Given the description of an element on the screen output the (x, y) to click on. 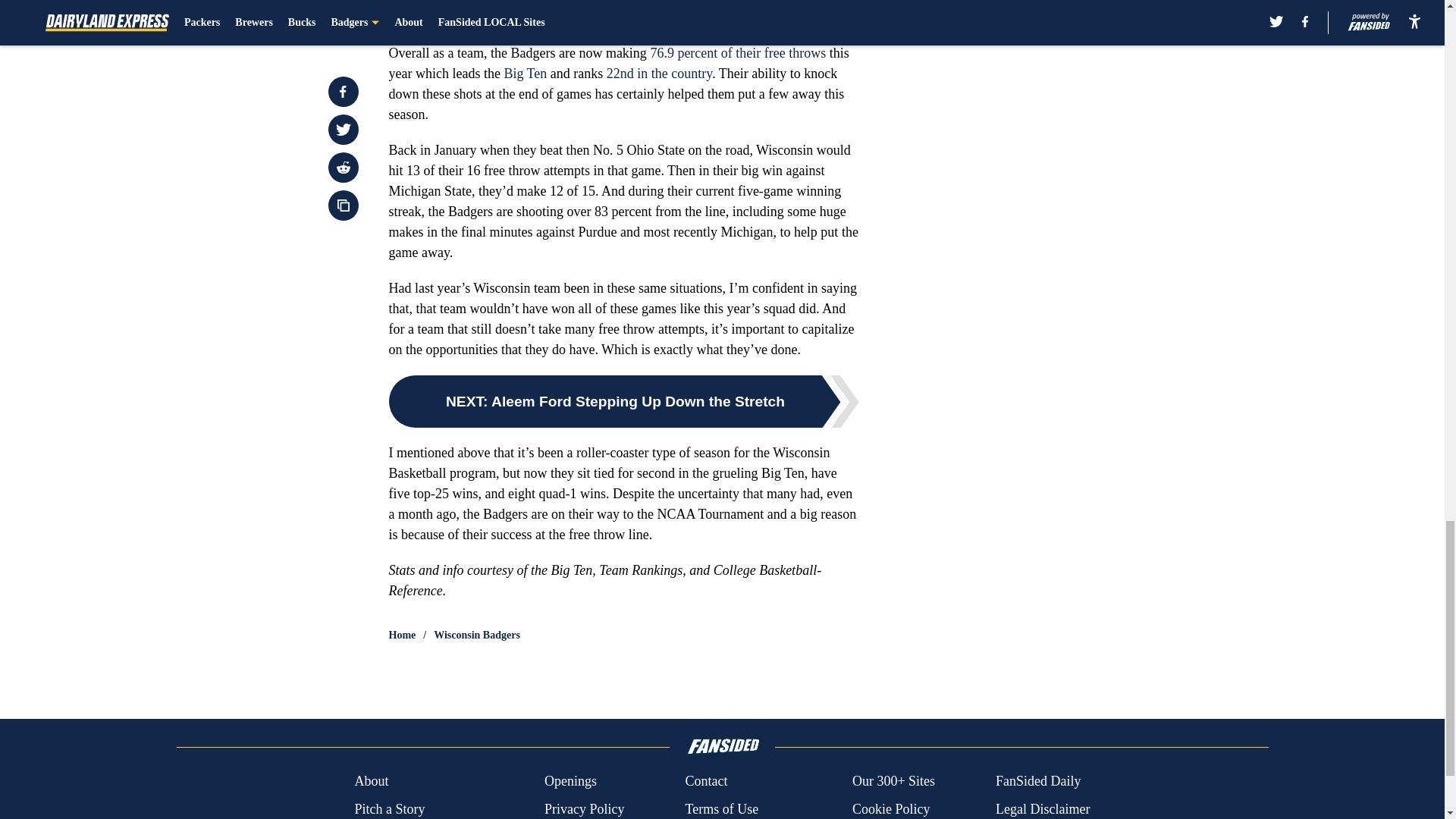
Wisconsin Badgers (476, 635)
Privacy Policy (584, 809)
Home (401, 635)
22nd in the country (659, 73)
Terms of Use (721, 809)
FanSided Daily (1038, 781)
76.9 percent of their free throws (737, 52)
Big Ten (525, 73)
Micah Potter (611, 12)
About (370, 781)
